Given the description of an element on the screen output the (x, y) to click on. 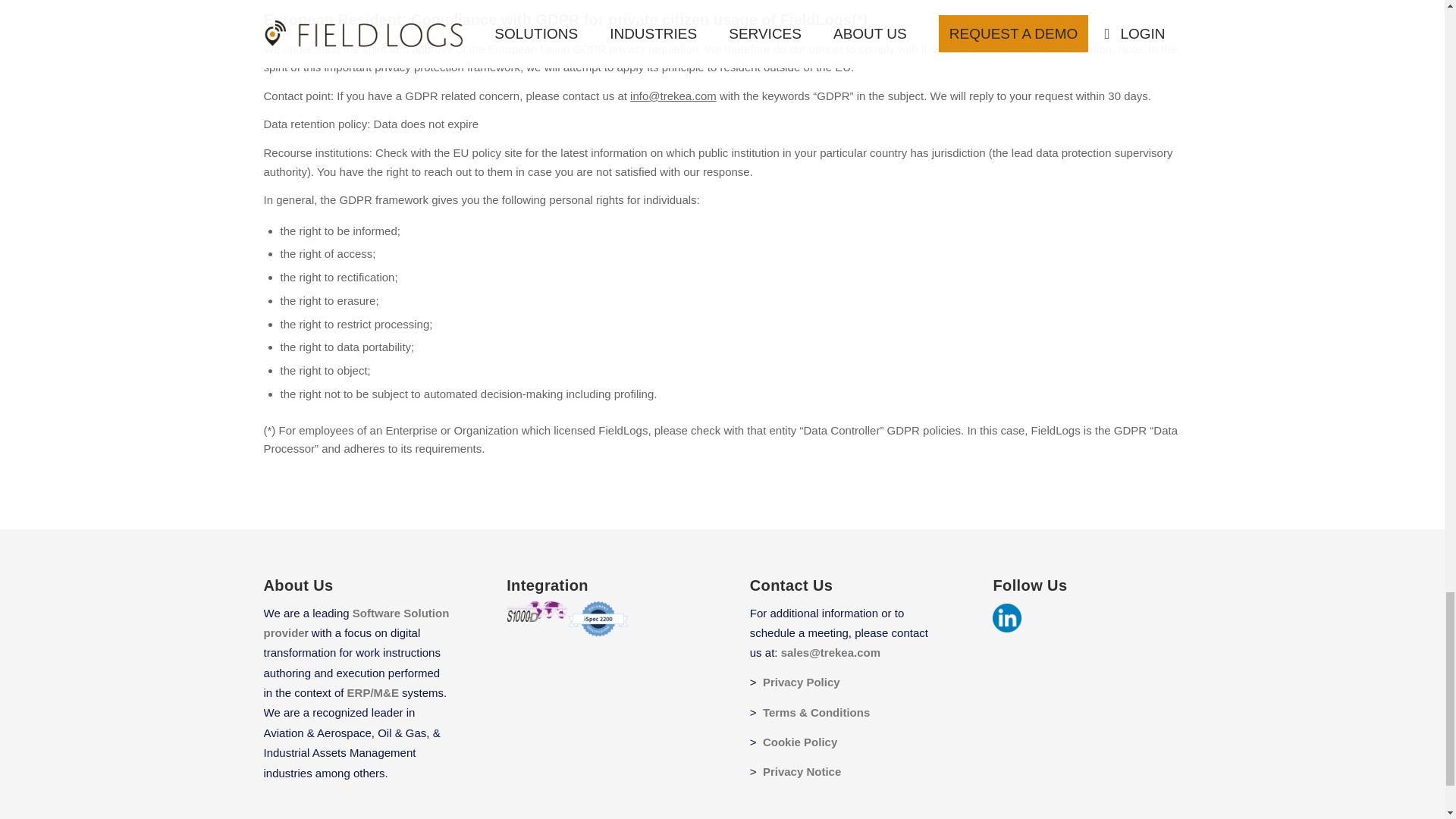
Cookie Policy (799, 741)
Privacy Policy (801, 681)
Privacy Notice (801, 771)
